Given the description of an element on the screen output the (x, y) to click on. 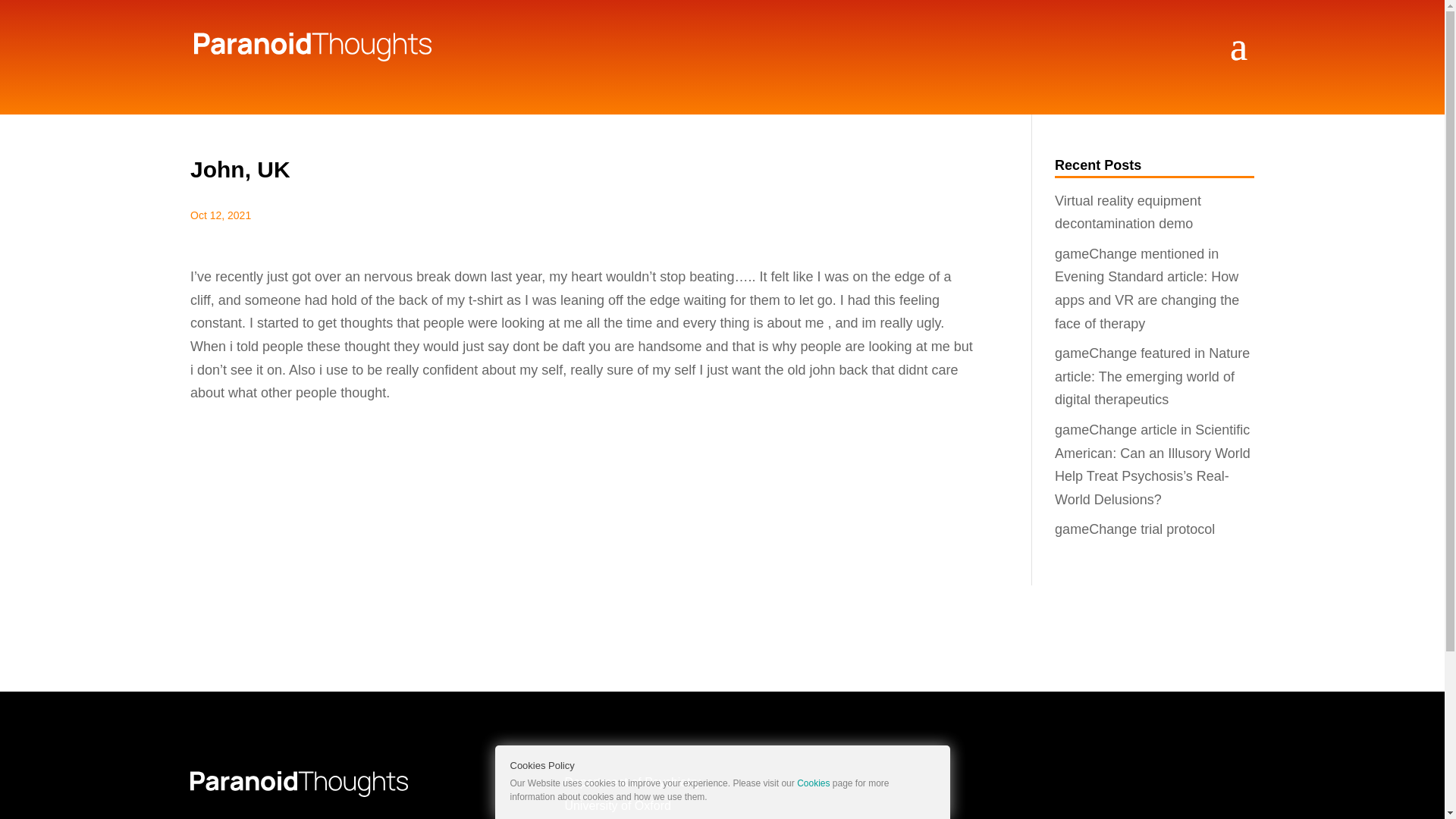
Cookies (812, 783)
Virtual reality equipment decontamination demo (1127, 212)
gameChange trial protocol (1134, 529)
logo (298, 783)
